Given the description of an element on the screen output the (x, y) to click on. 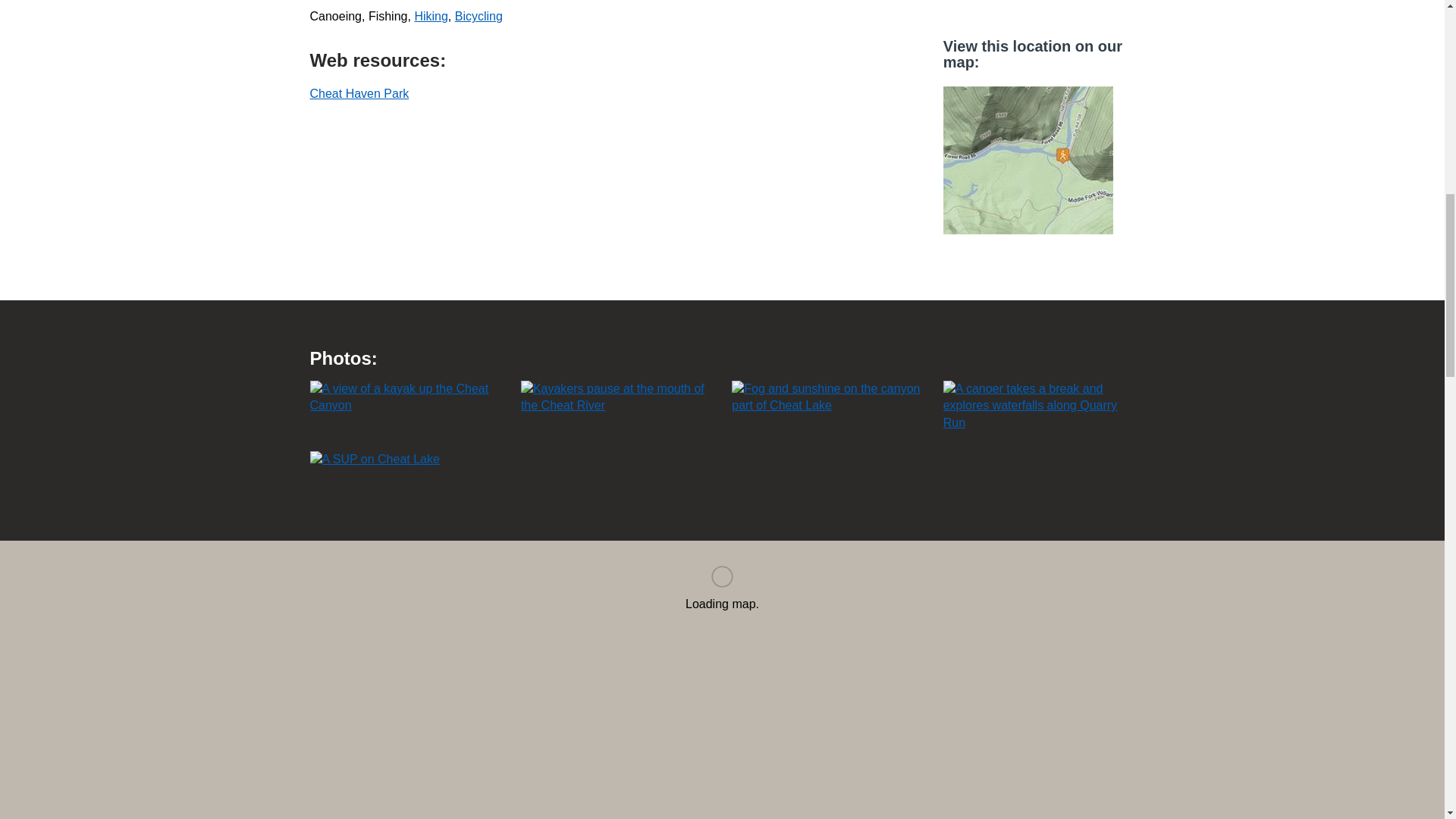
Bicycling (478, 15)
Cheat Haven Park (358, 92)
Hiking (429, 15)
